Given the description of an element on the screen output the (x, y) to click on. 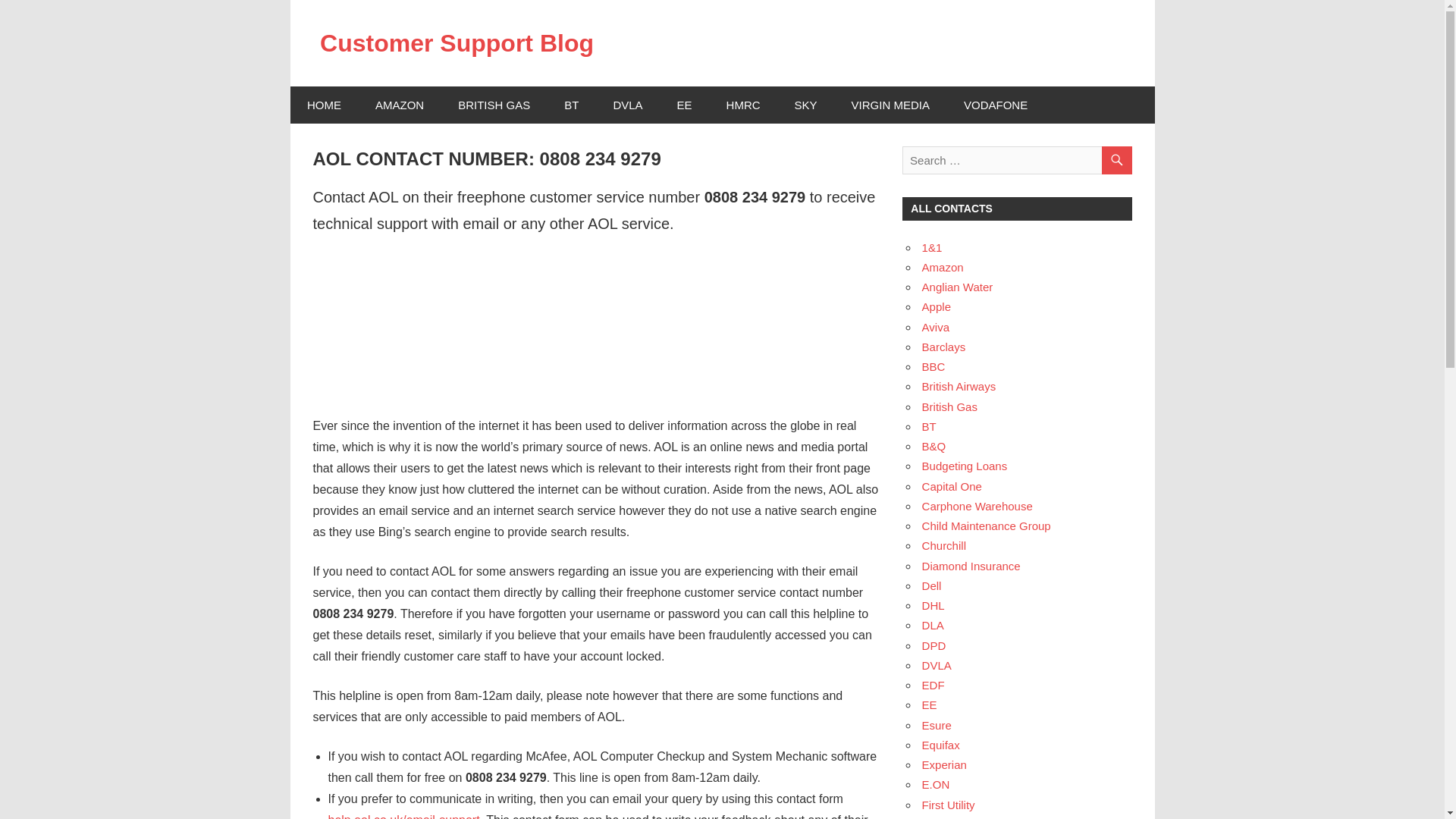
Apple (935, 306)
BT (928, 426)
Barclays (943, 346)
Budgeting Loans (964, 465)
Diamond Insurance (970, 565)
Aviva (935, 327)
Child Maintenance Group (986, 525)
Amazon (942, 267)
VIRGIN MEDIA (890, 104)
DHL (932, 604)
